Given the description of an element on the screen output the (x, y) to click on. 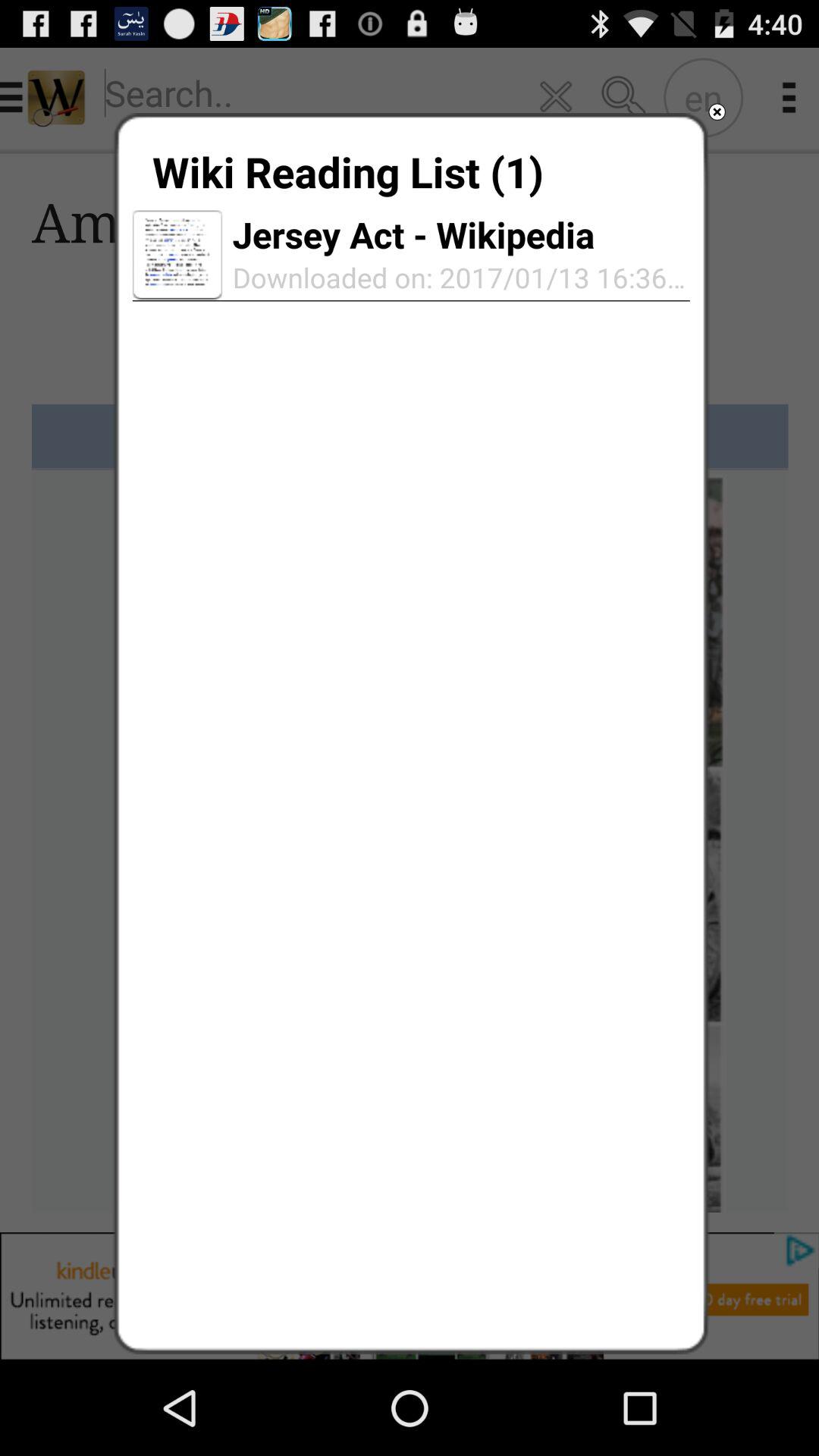
click icon below wiki reading list icon (413, 234)
